Given the description of an element on the screen output the (x, y) to click on. 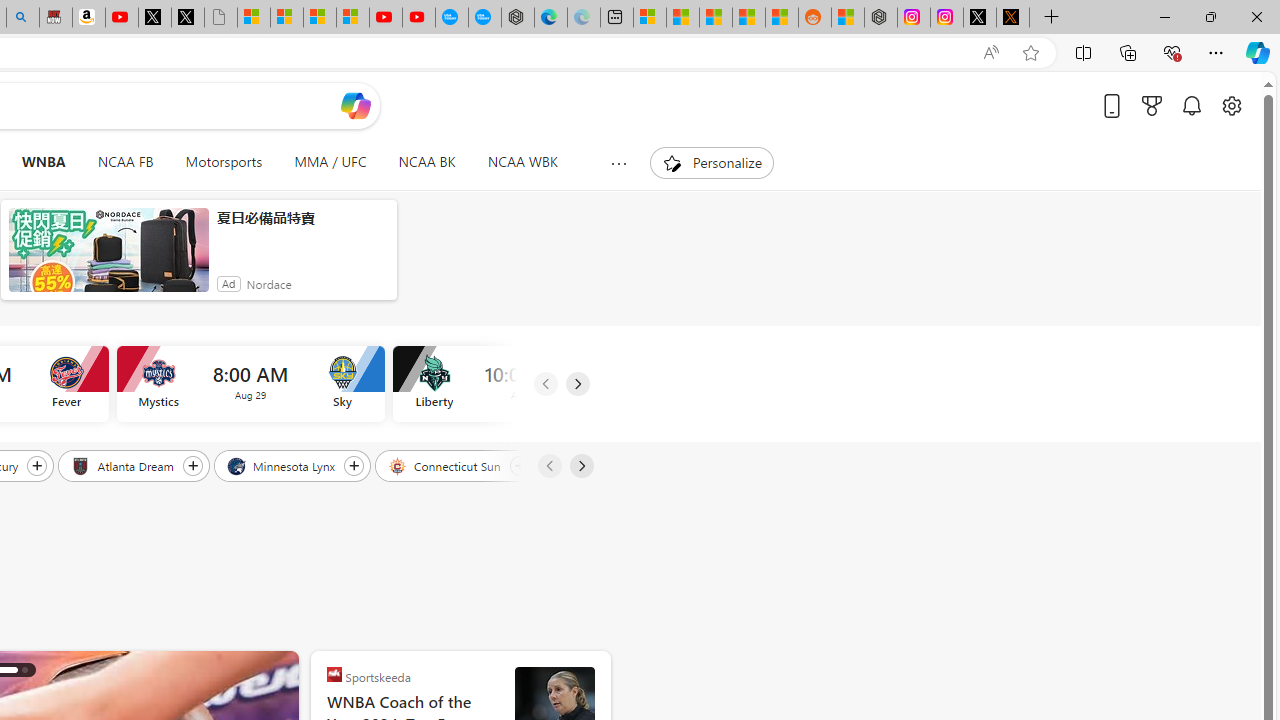
Follow Connecticut Sun (519, 465)
Microsoft rewards (1151, 105)
Follow Phoenix Mercury (37, 465)
Follow Atlanta Dream (192, 465)
NCAA FB (125, 162)
Open settings (1231, 105)
Minnesota Lynx (281, 465)
Day 1: Arriving in Yemen (surreal to be here) - YouTube (122, 17)
